Given the description of an element on the screen output the (x, y) to click on. 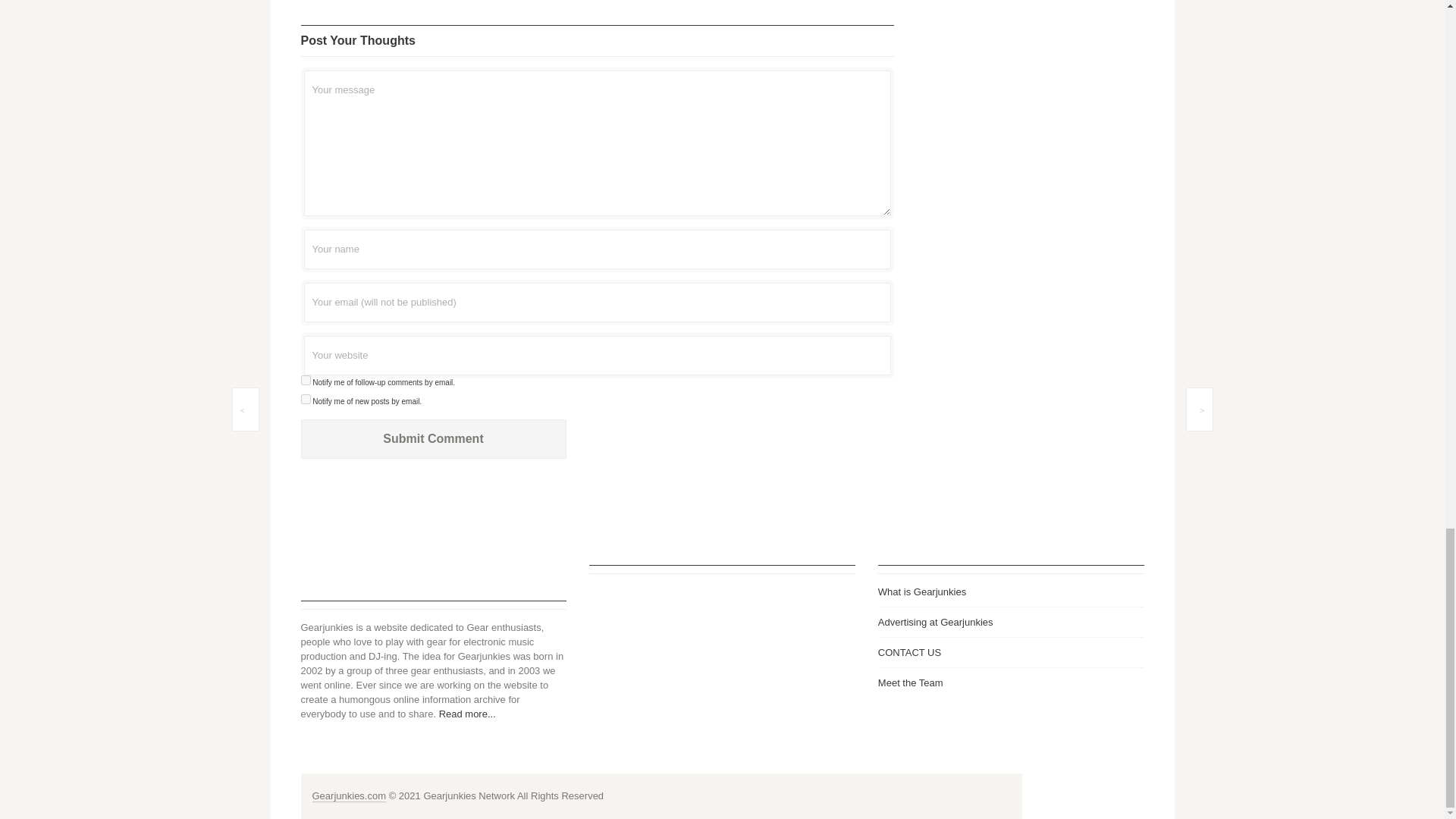
Submit Comment (432, 438)
subscribe (304, 379)
subscribe (304, 398)
